Given the description of an element on the screen output the (x, y) to click on. 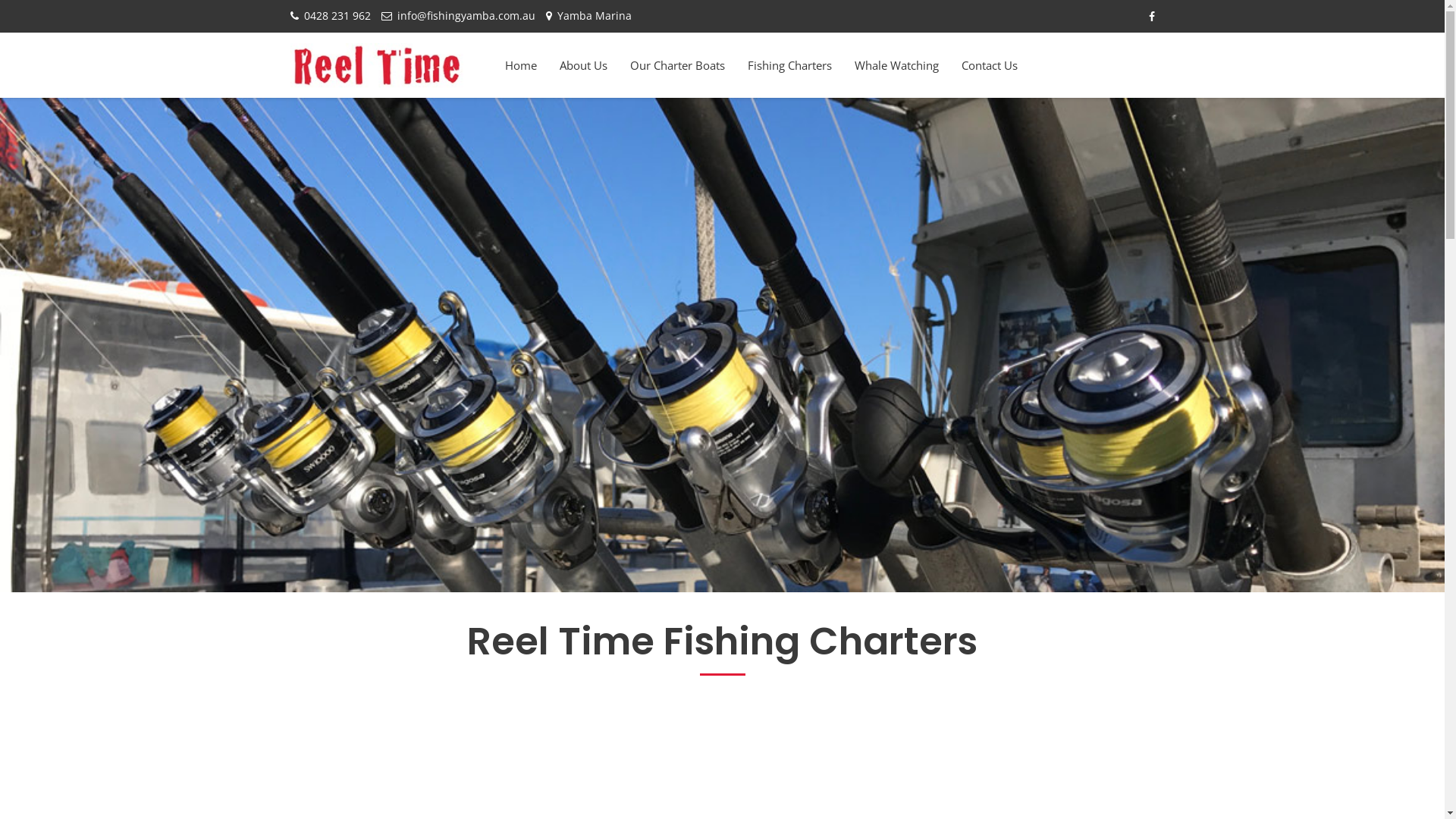
About Us Element type: text (582, 64)
Contact Us Element type: text (988, 64)
Our Charter Boats Element type: text (677, 64)
Fishing Charters Element type: text (788, 64)
Fishing Charters Element type: hover (722, 344)
Whale Watching Element type: text (896, 64)
Home Element type: text (519, 64)
